Given the description of an element on the screen output the (x, y) to click on. 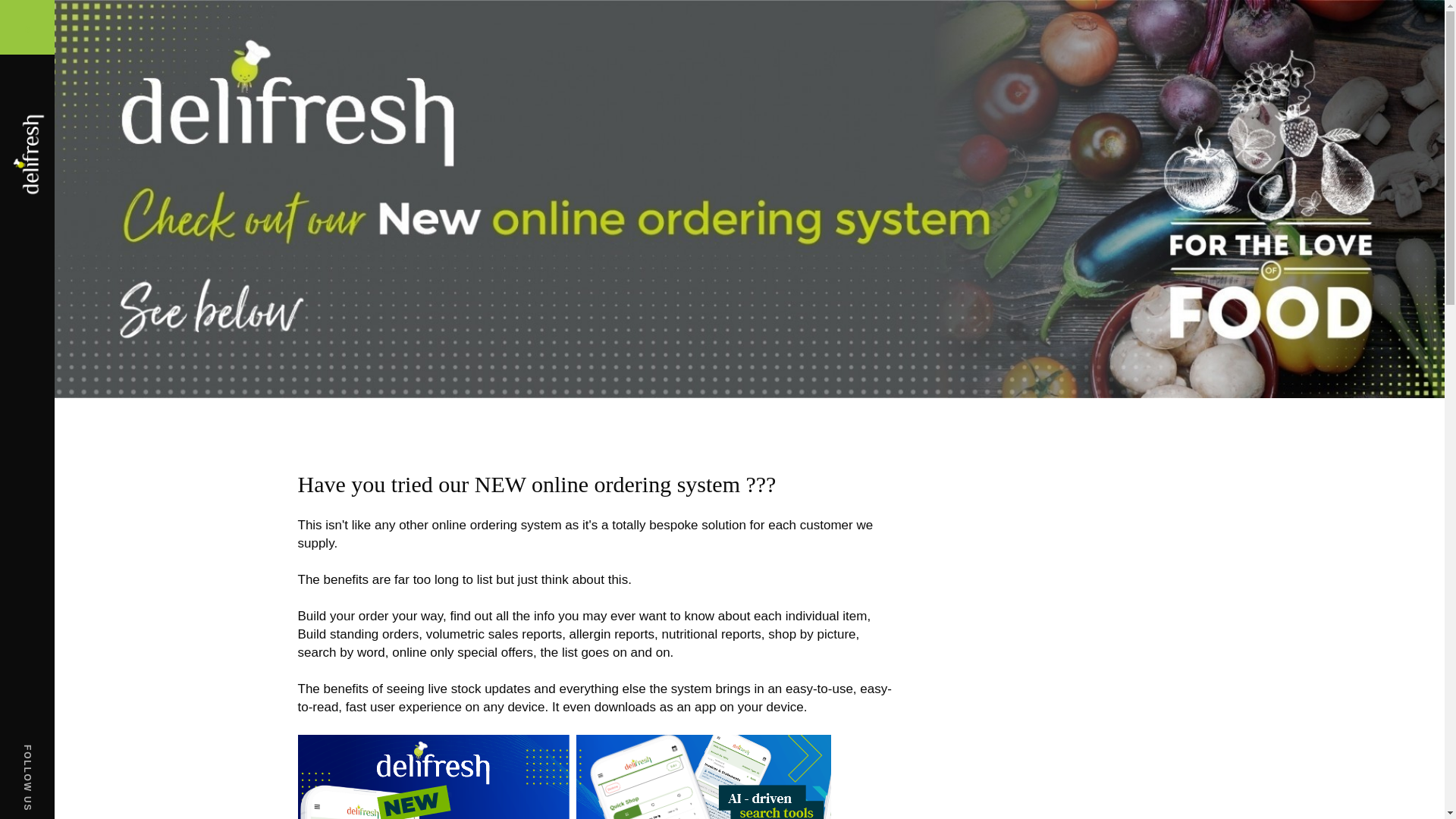
0 (27, 27)
